Given the description of an element on the screen output the (x, y) to click on. 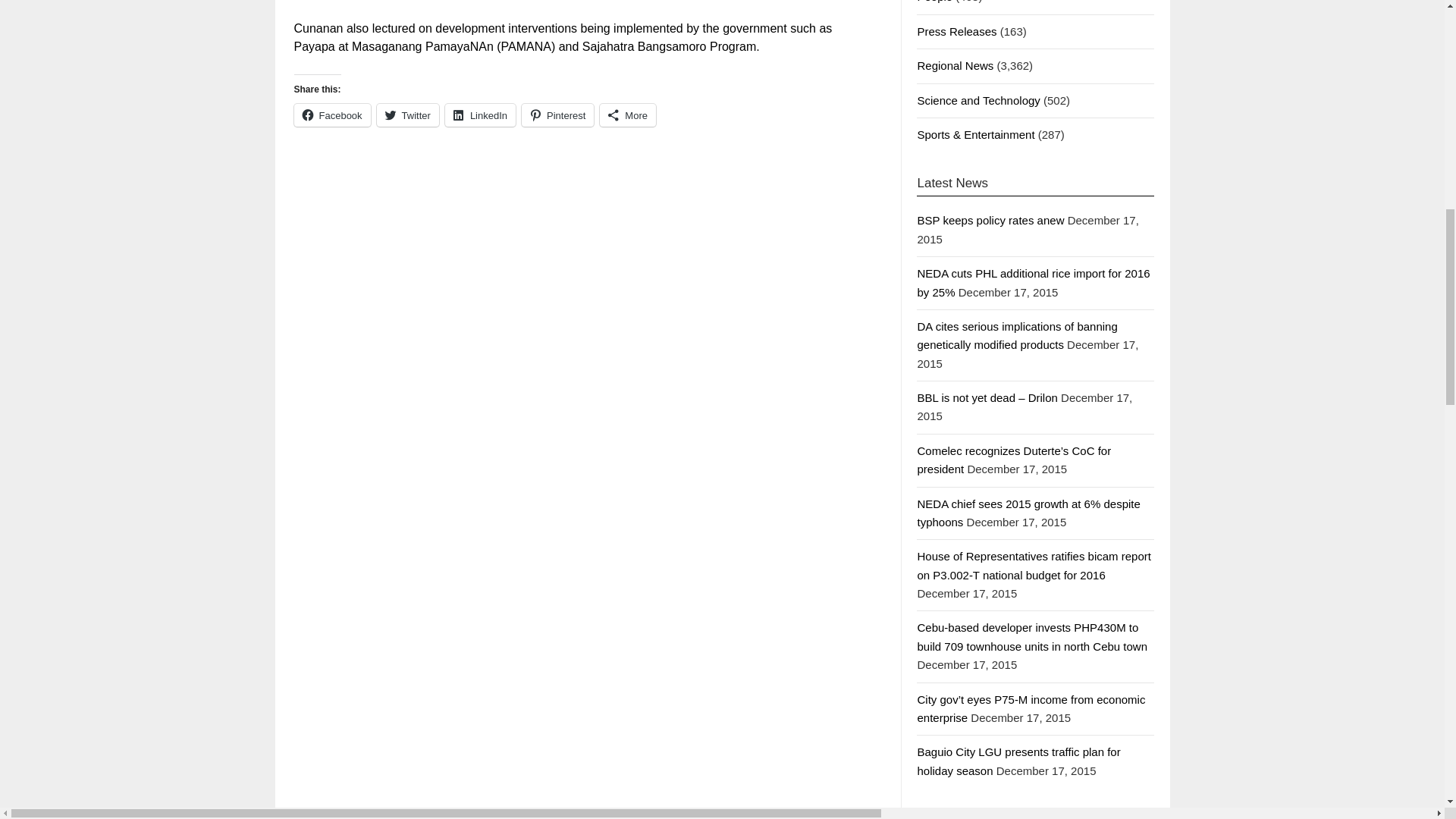
Twitter (408, 115)
BSP keeps policy rates anew (990, 219)
Click to share on Facebook (332, 115)
Click to share on LinkedIn (480, 115)
Science and Technology (978, 100)
Press Releases (956, 31)
Facebook (332, 115)
More (627, 115)
Regional News (954, 65)
People (934, 1)
Pinterest (557, 115)
Click to share on Twitter (408, 115)
LinkedIn (480, 115)
Click to share on Pinterest (557, 115)
